Given the description of an element on the screen output the (x, y) to click on. 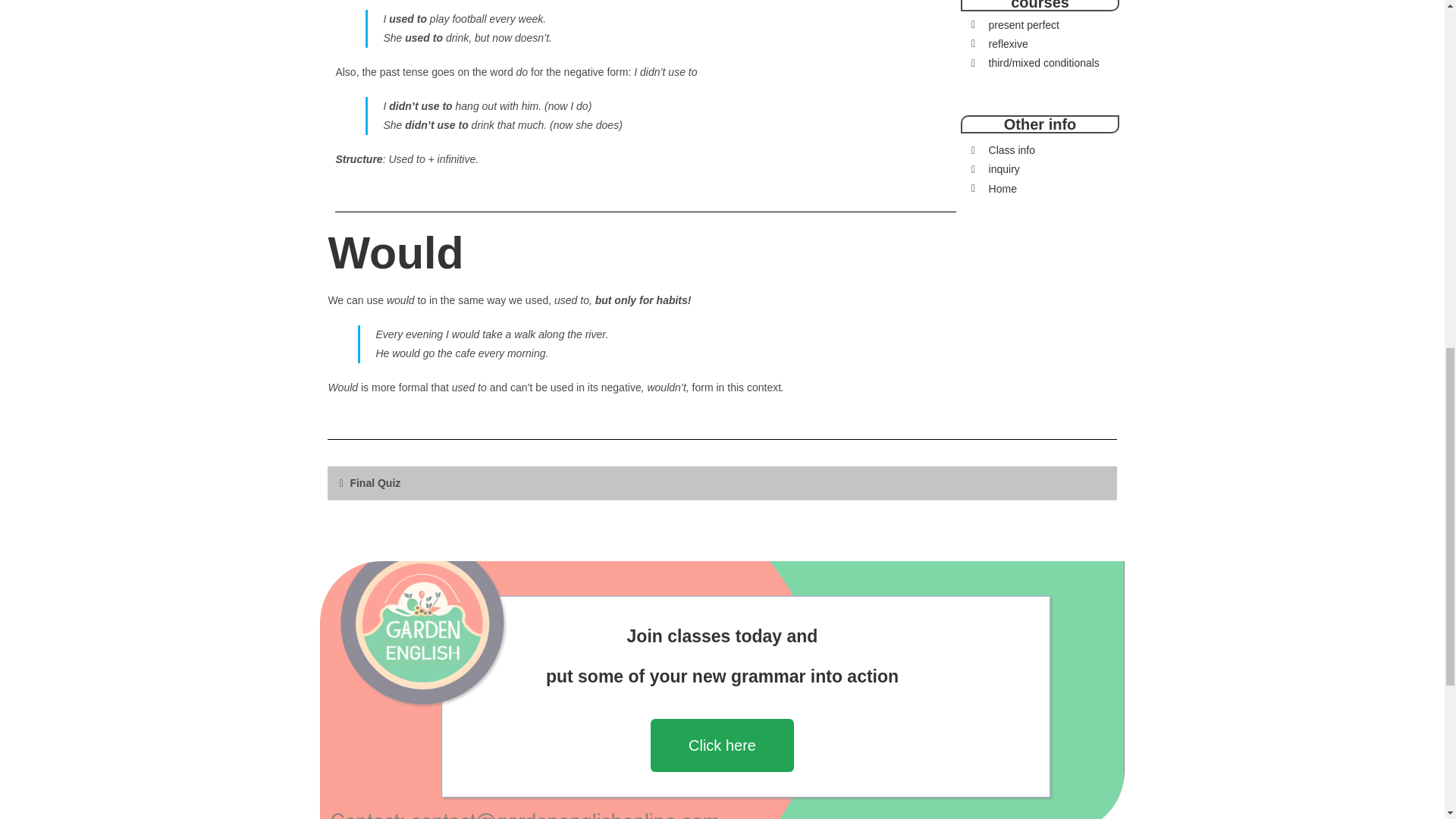
Home (1039, 189)
Class info (1039, 149)
reflexive (1039, 44)
Final Quiz (374, 482)
inquiry (1039, 169)
present perfect (1039, 25)
